Given the description of an element on the screen output the (x, y) to click on. 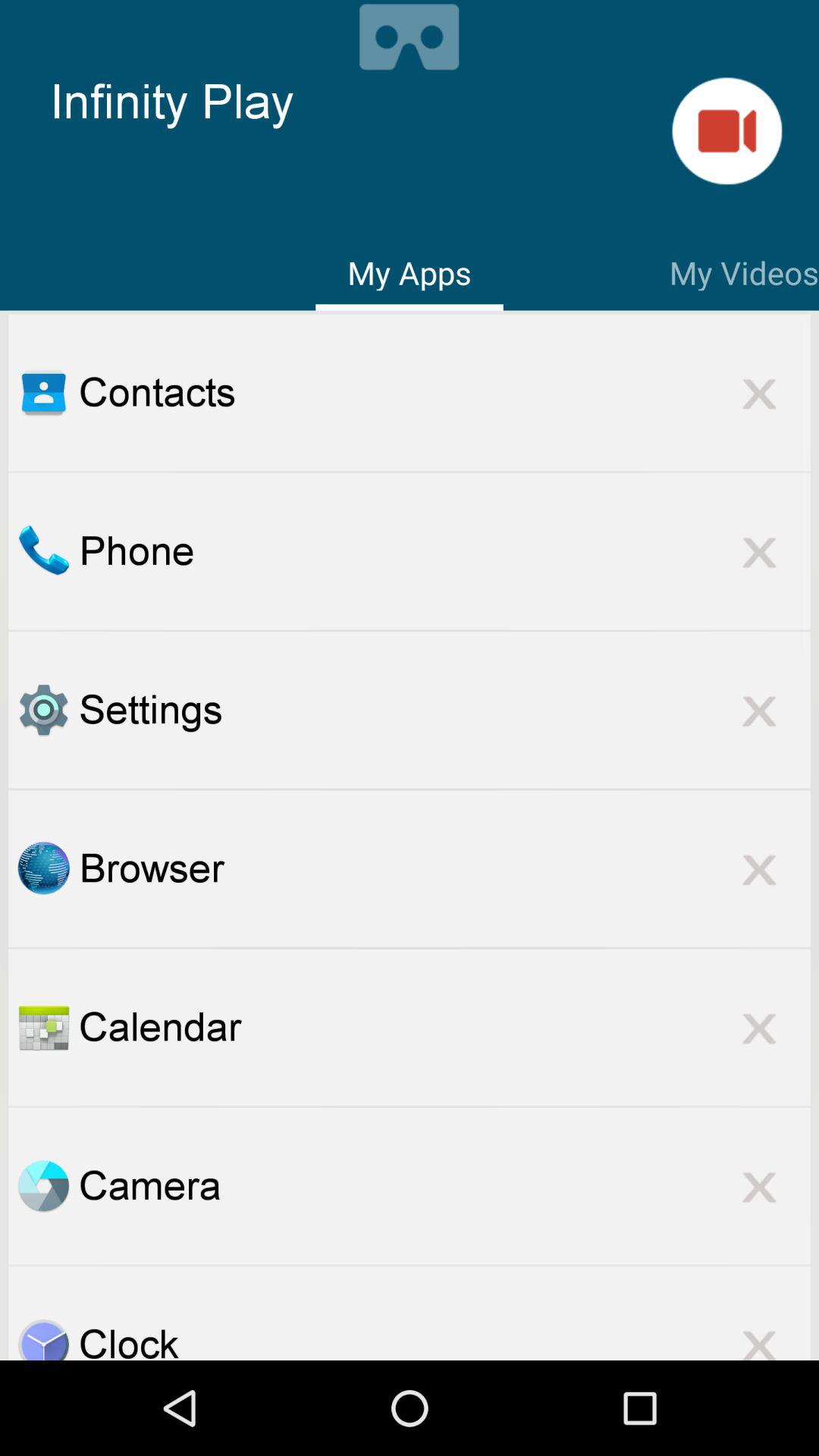
turn off phone icon (444, 550)
